Given the description of an element on the screen output the (x, y) to click on. 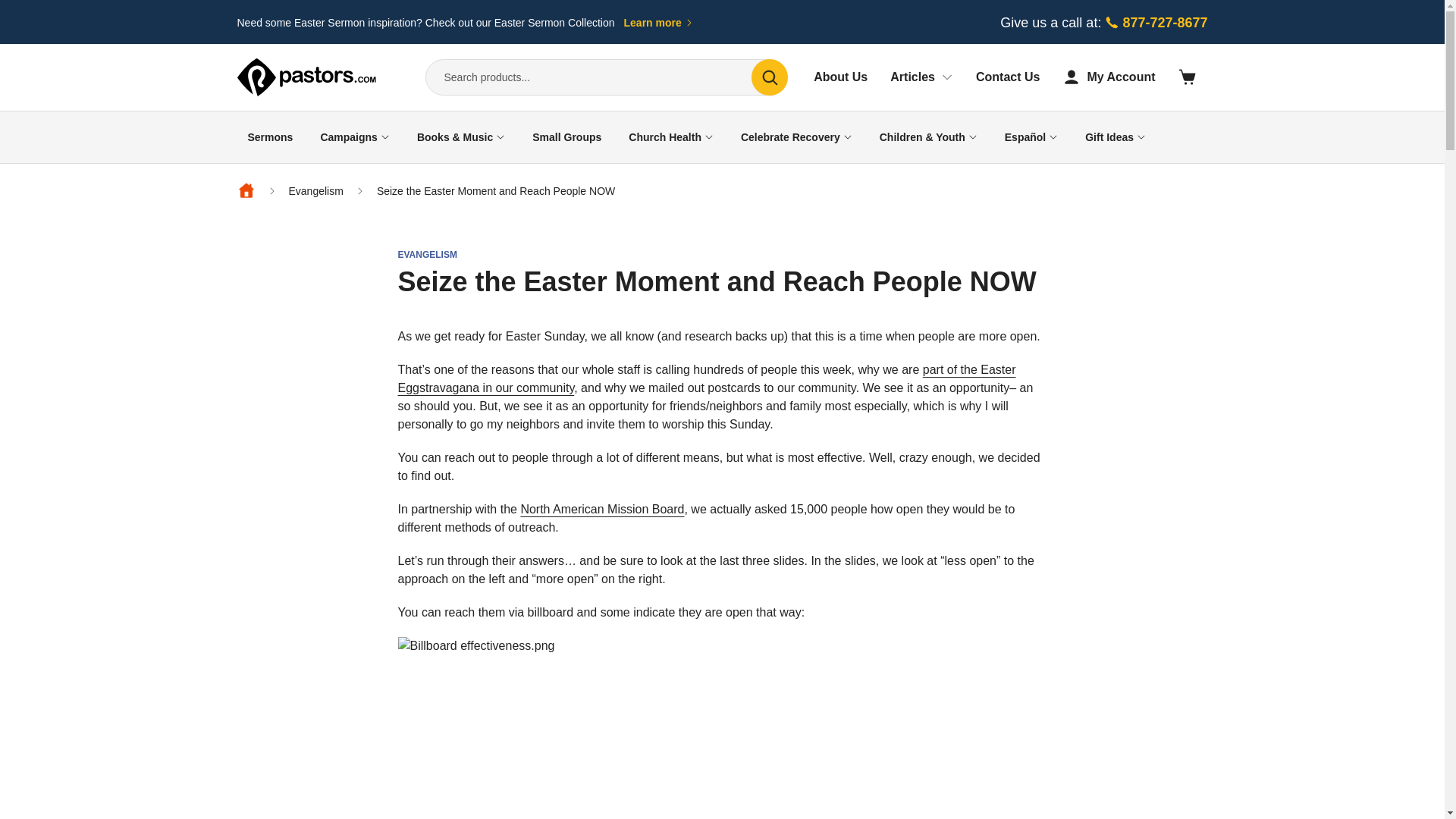
Learn more (659, 22)
877-727-8677 (1155, 22)
